Given the description of an element on the screen output the (x, y) to click on. 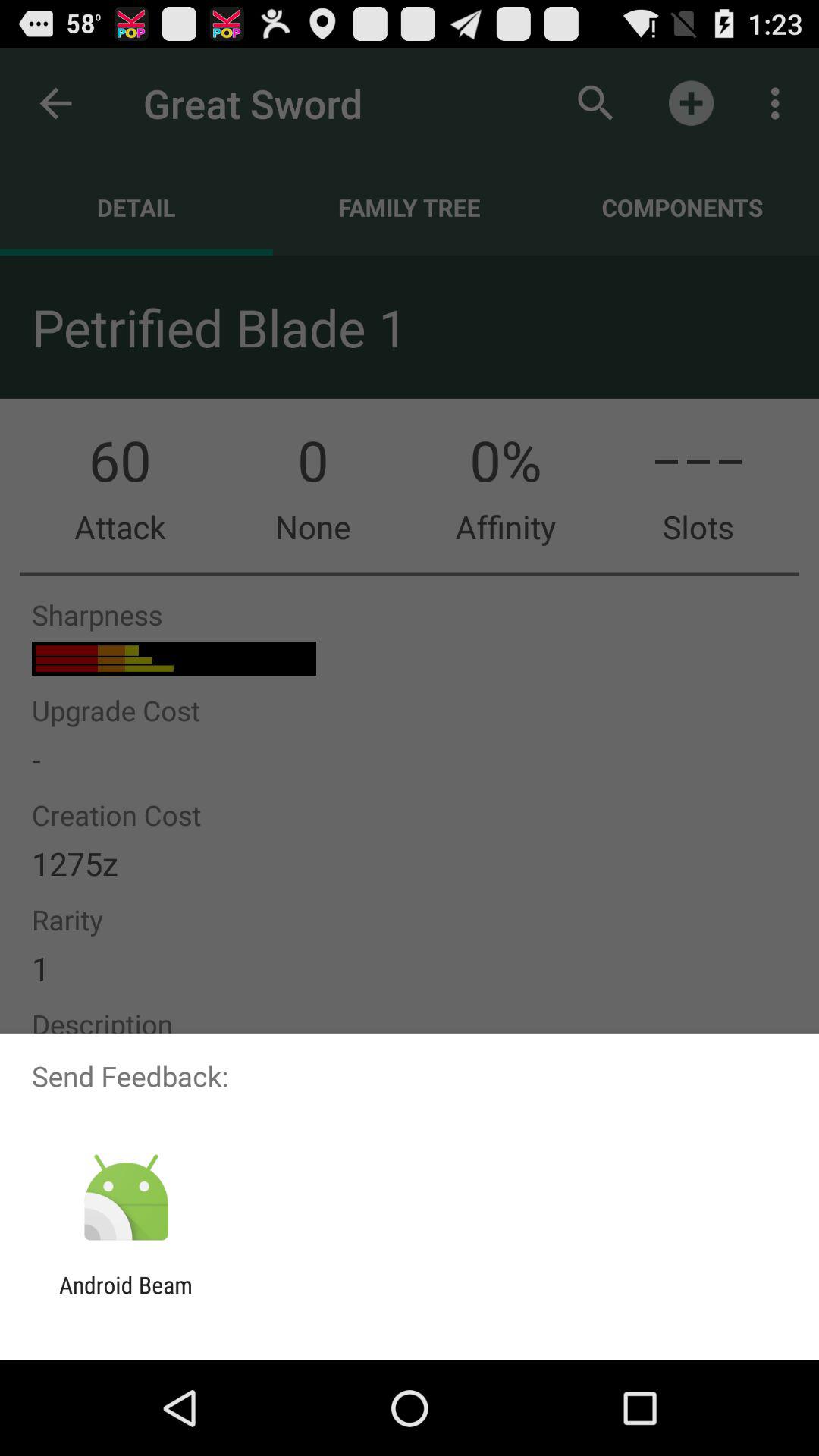
tap the icon below send feedback: (126, 1198)
